Given the description of an element on the screen output the (x, y) to click on. 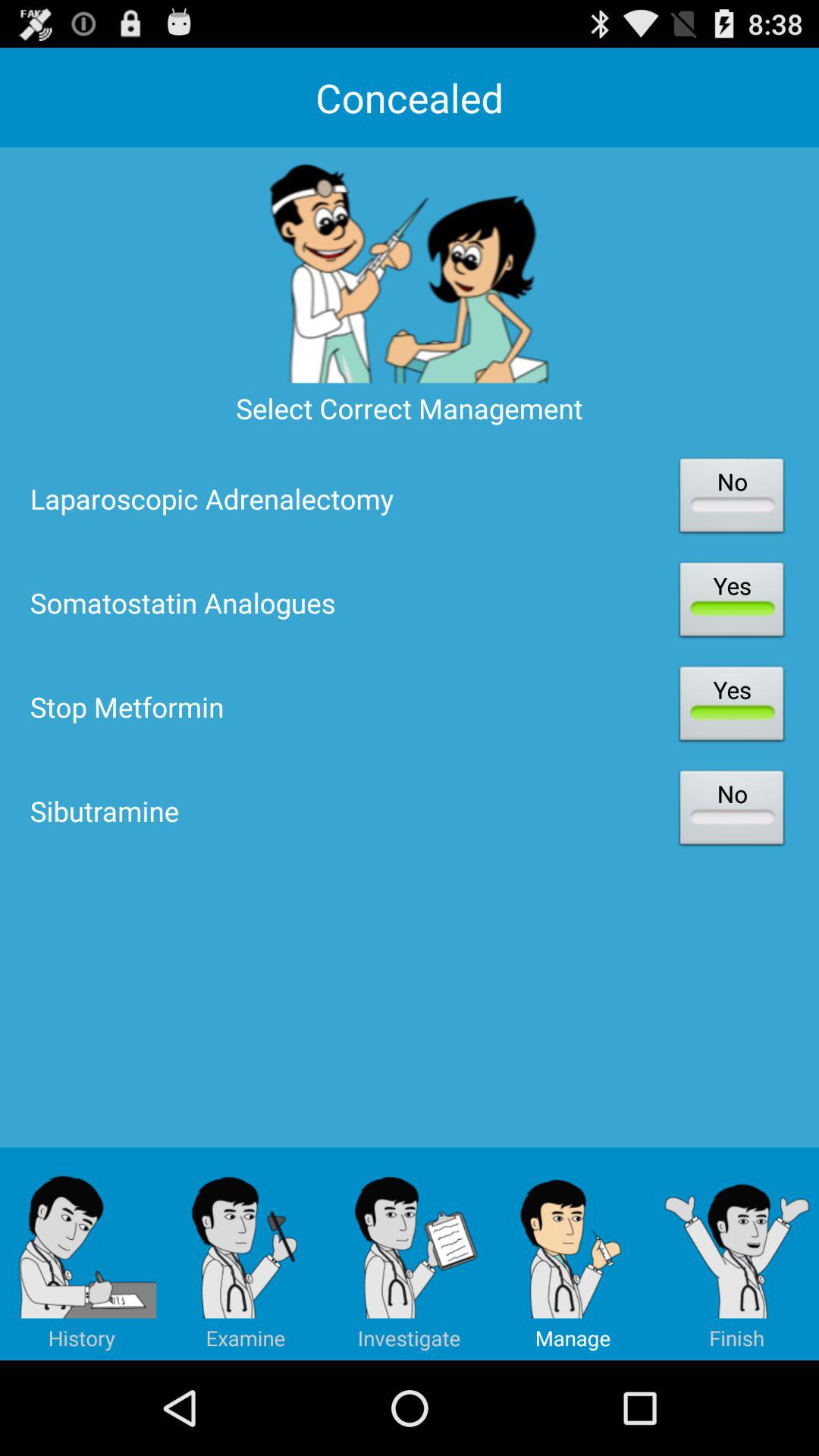
press icon at the bottom (409, 1253)
